Given the description of an element on the screen output the (x, y) to click on. 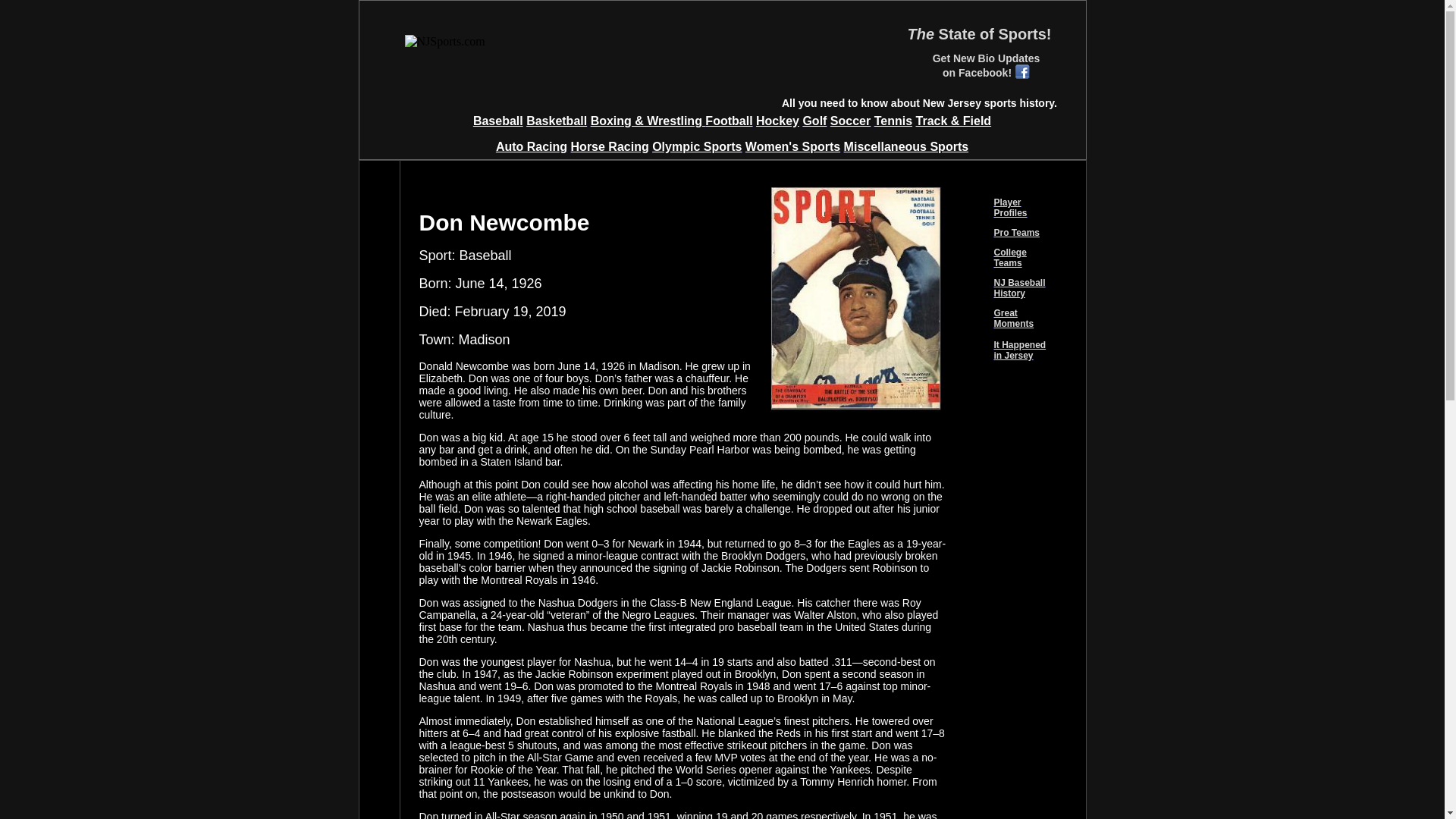
Miscellaneous Sports (906, 146)
Basketball (555, 120)
Hockey (777, 120)
Football (728, 120)
Great Moments (1012, 318)
Soccer (849, 120)
It Happened in Jersey (1018, 350)
Player Profiles (1009, 207)
Golf (814, 120)
Pro Teams (1015, 232)
